Given the description of an element on the screen output the (x, y) to click on. 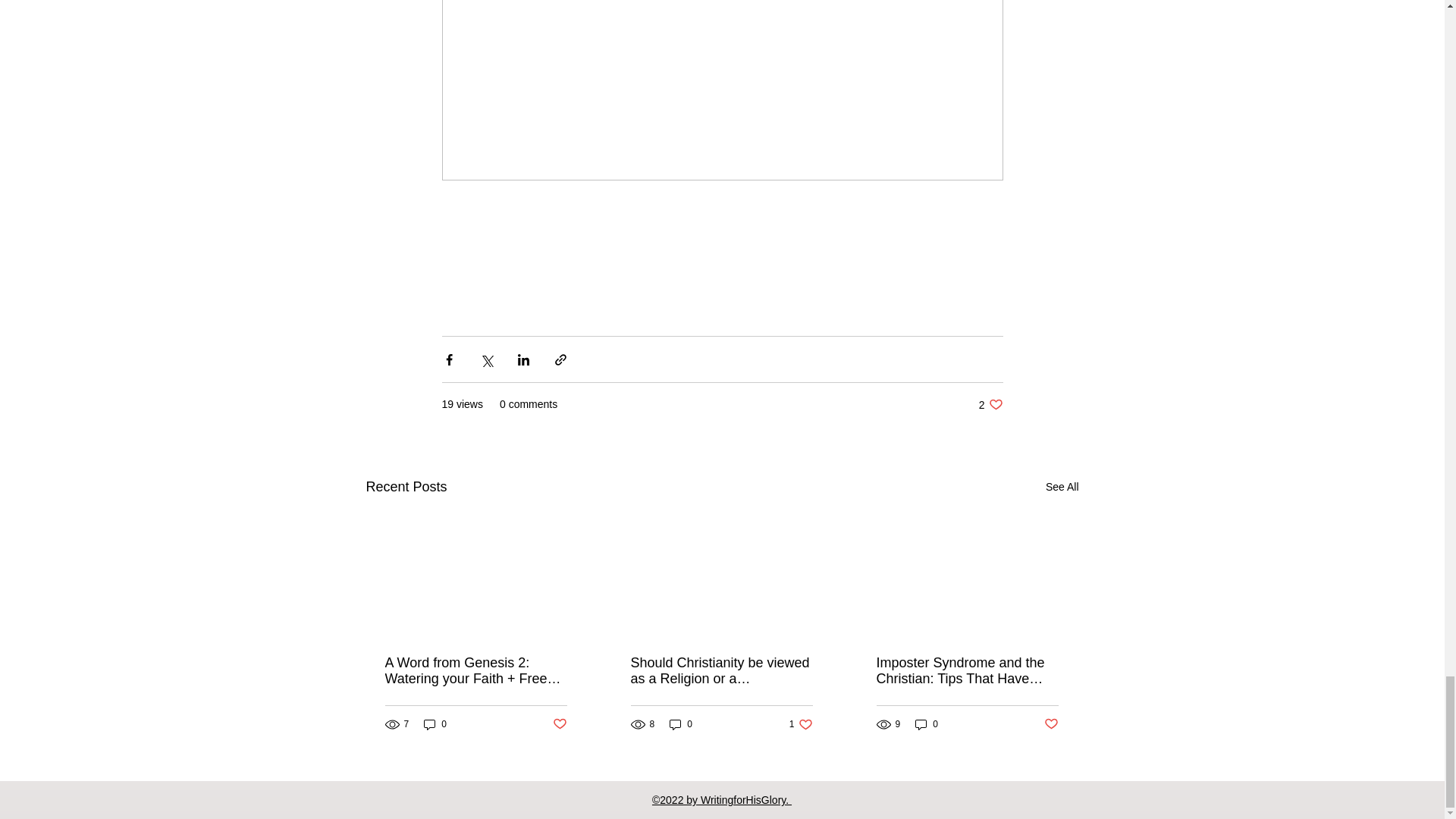
Post not marked as liked (558, 724)
0 (435, 724)
0 (926, 724)
See All (1061, 486)
Post not marked as liked (1050, 724)
0 (990, 404)
